Given the description of an element on the screen output the (x, y) to click on. 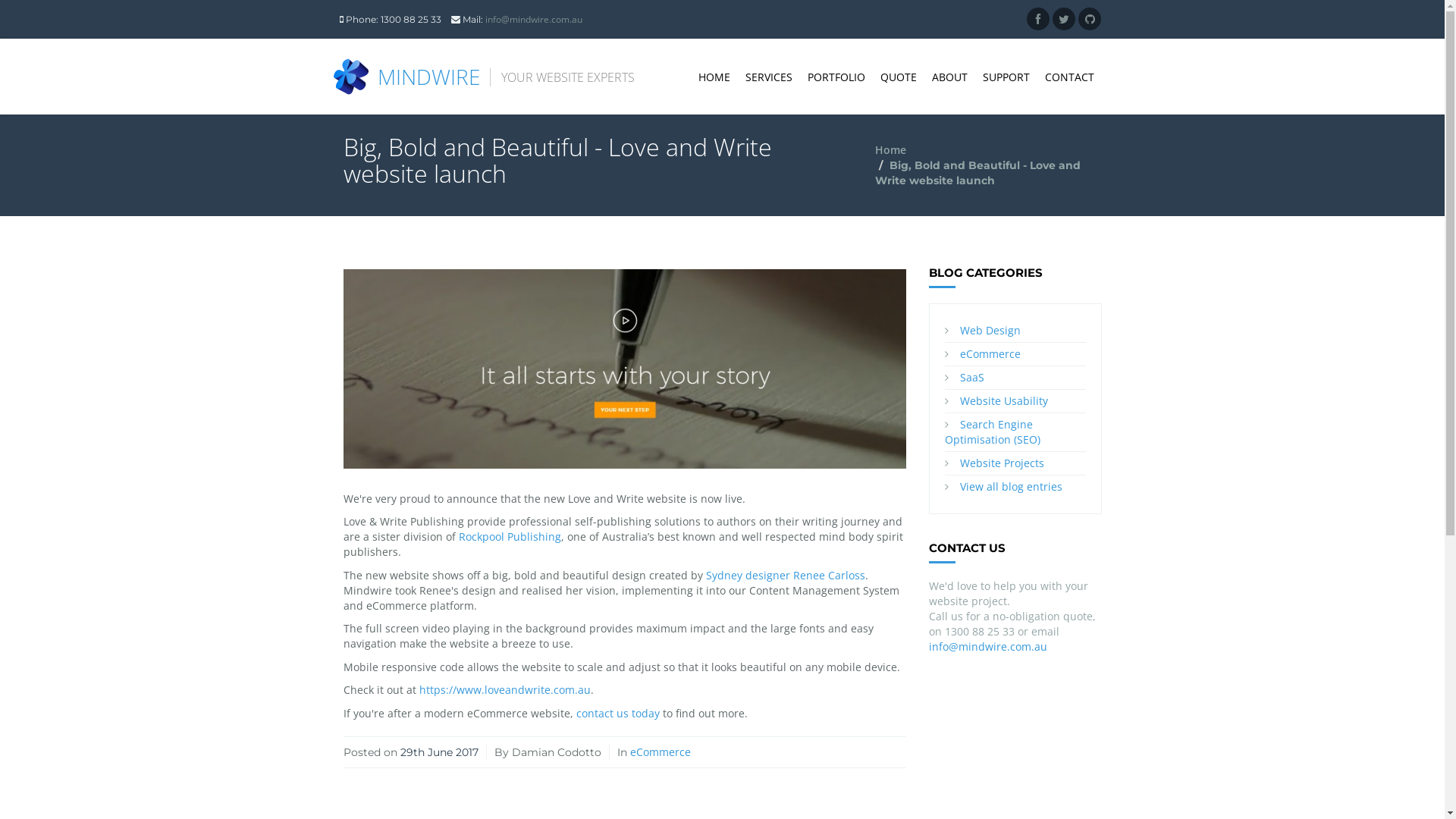
eCommerce Element type: text (659, 751)
Web Design Element type: text (990, 330)
QUOTE Element type: text (897, 76)
Website Usability Element type: text (1004, 400)
eCommerce Element type: text (990, 353)
Rockpool Publishing Element type: text (509, 536)
ABOUT Element type: text (948, 76)
MINDWIRE YOUR WEBSITE EXPERTS Element type: text (489, 66)
SaaS Element type: text (972, 377)
SERVICES Element type: text (768, 76)
Website Projects Element type: text (1002, 462)
PORTFOLIO Element type: text (835, 76)
info@mindwire.com.au Element type: text (533, 18)
CONTACT Element type: text (1069, 76)
HOME Element type: text (713, 76)
Search Engine Optimisation (SEO) Element type: text (992, 431)
contact us today Element type: text (617, 713)
Home Element type: text (890, 149)
SUPPORT Element type: text (1006, 76)
https://www.loveandwrite.com.au Element type: text (503, 689)
Sydney designer Renee Carloss Element type: text (784, 574)
info@mindwire.com.au Element type: text (987, 646)
View all blog entries Element type: text (1011, 486)
